Given the description of an element on the screen output the (x, y) to click on. 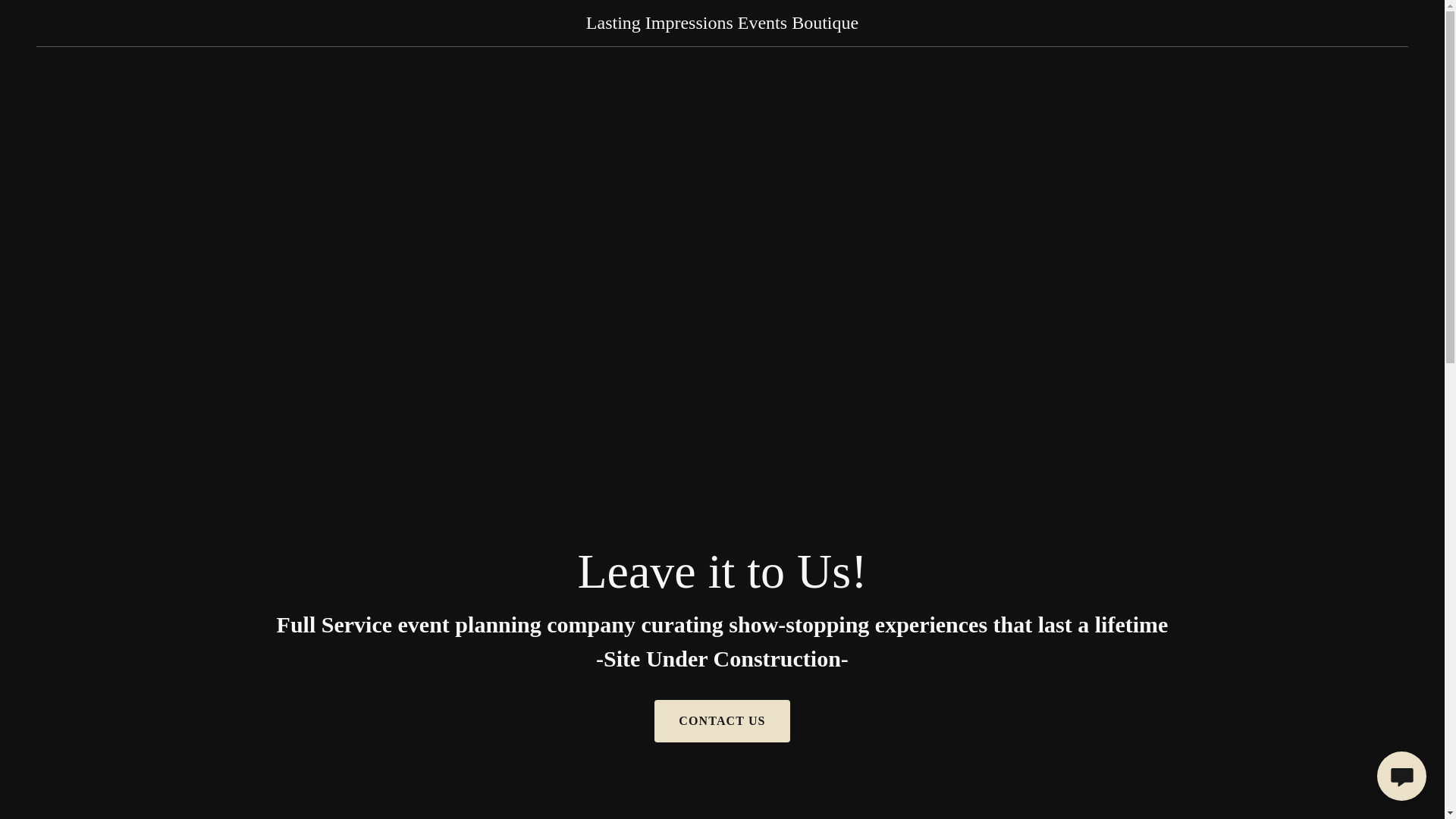
CONTACT US (721, 721)
Lasting Impressions Events Boutique (721, 23)
Lasting Impressions Events Boutique (721, 23)
